Given the description of an element on the screen output the (x, y) to click on. 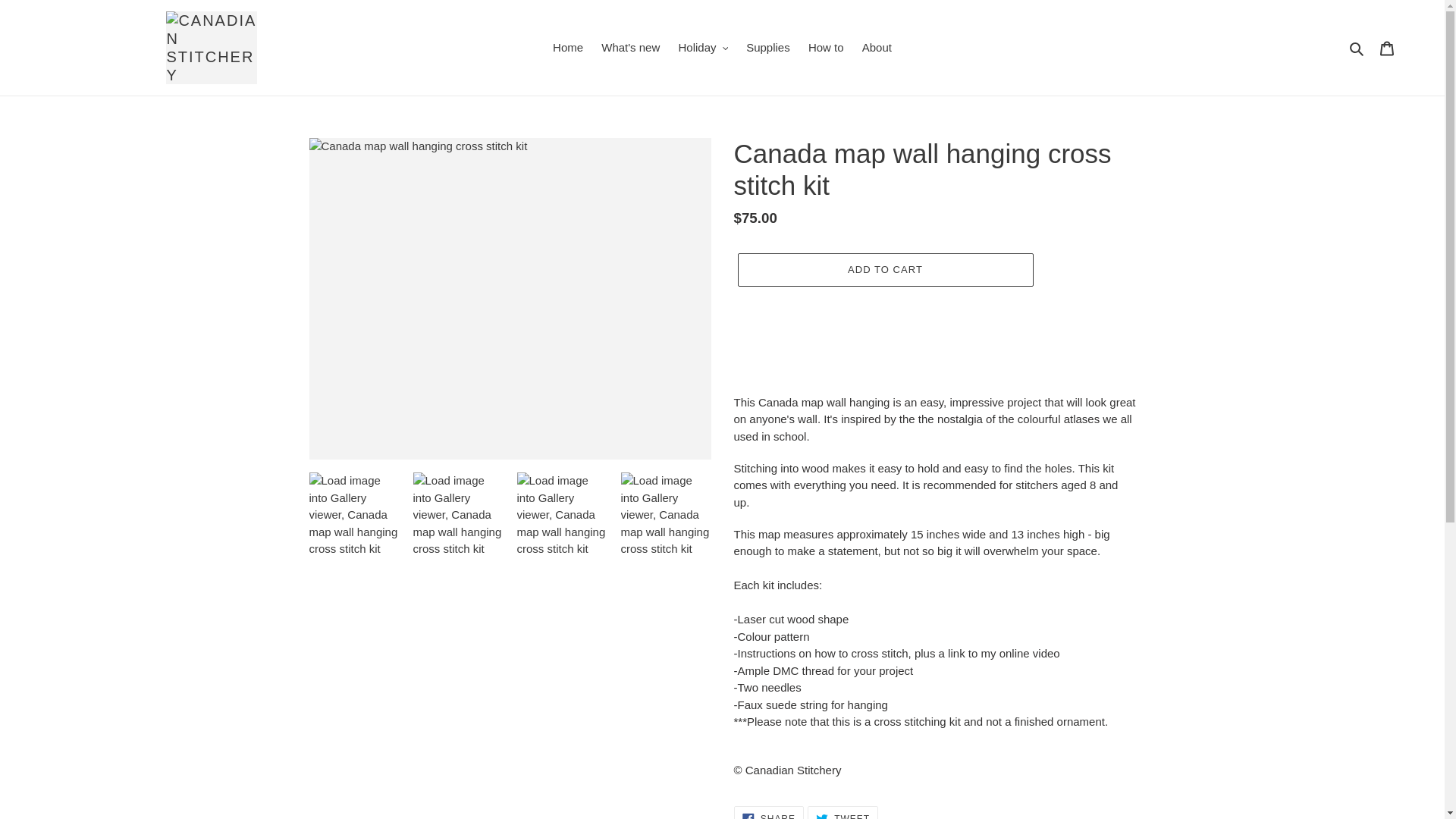
ADD TO CART (884, 269)
What's new (630, 47)
Cart (842, 812)
Holiday (1387, 47)
Search (702, 47)
About (1357, 47)
How to (876, 47)
Supplies (825, 47)
Home (767, 47)
